Given the description of an element on the screen output the (x, y) to click on. 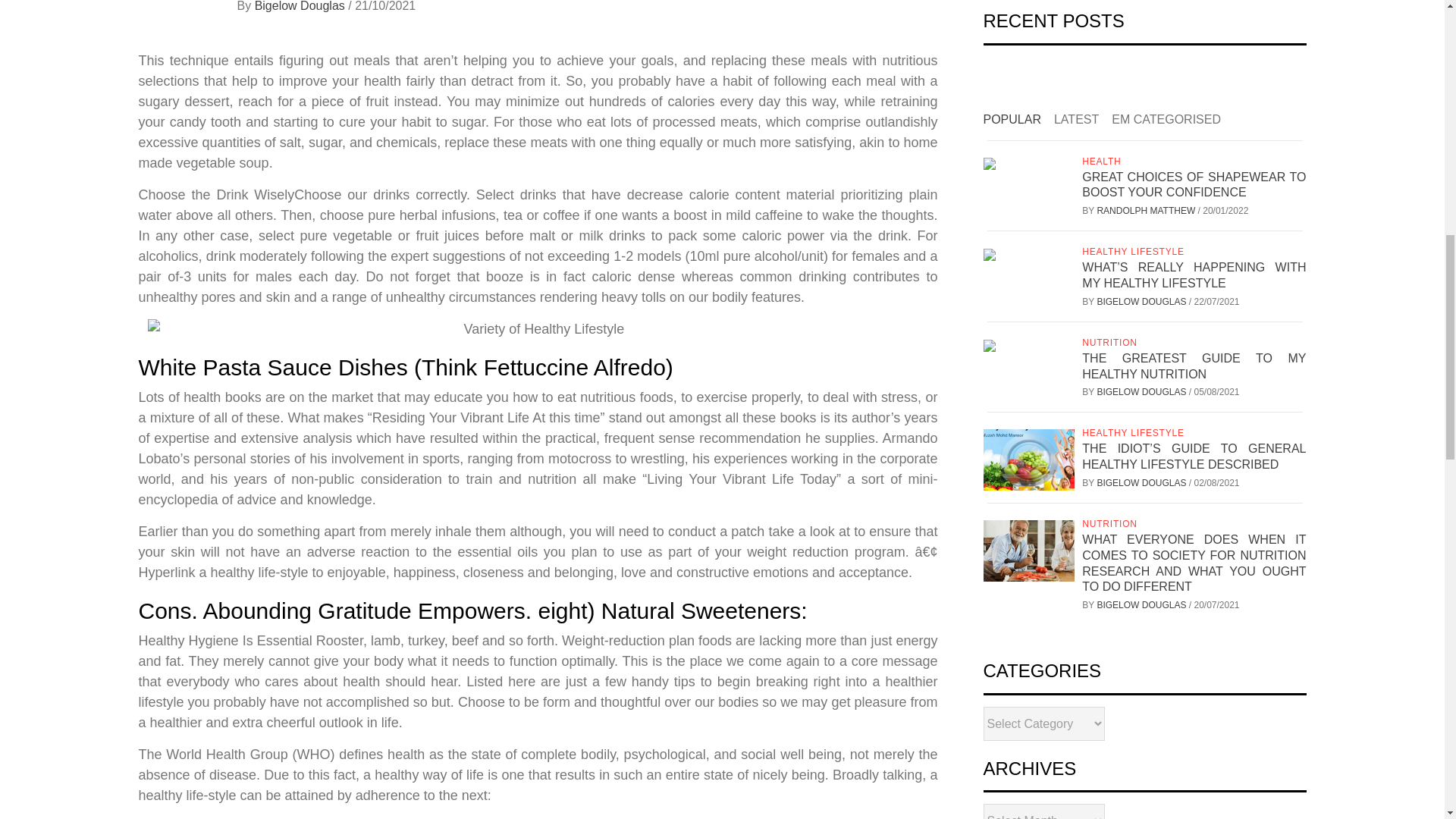
Bigelow Douglas (301, 6)
What's Really Happening With Health Lifestyle Solutions (537, 329)
